Given the description of an element on the screen output the (x, y) to click on. 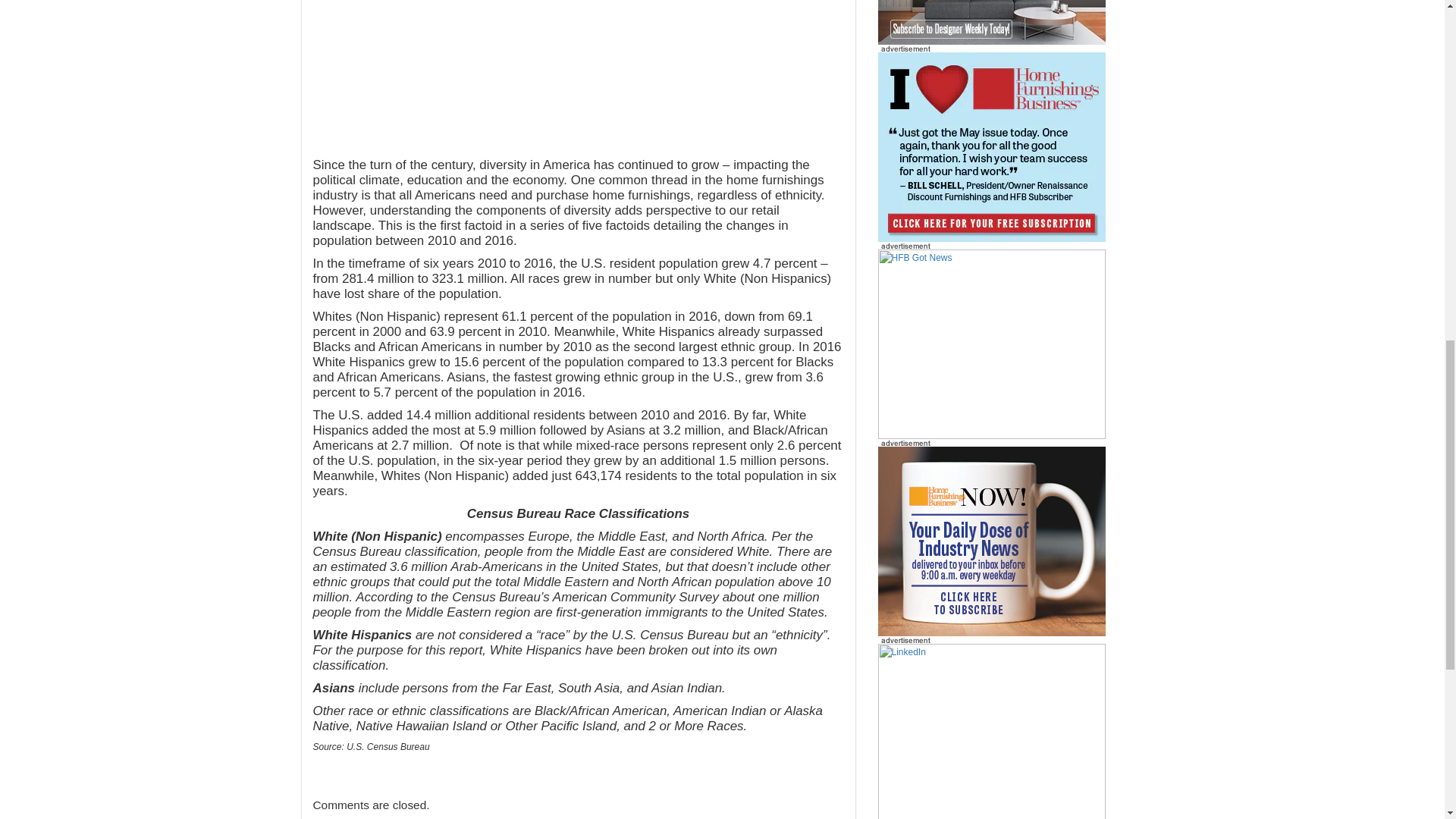
HFB I Love Schell (991, 145)
HFB Designer Weekly (991, 22)
HFB Got News (991, 343)
HFB Subscribe IHeart Schell (991, 146)
HFB Subscribe IHeart (991, 343)
